Given the description of an element on the screen output the (x, y) to click on. 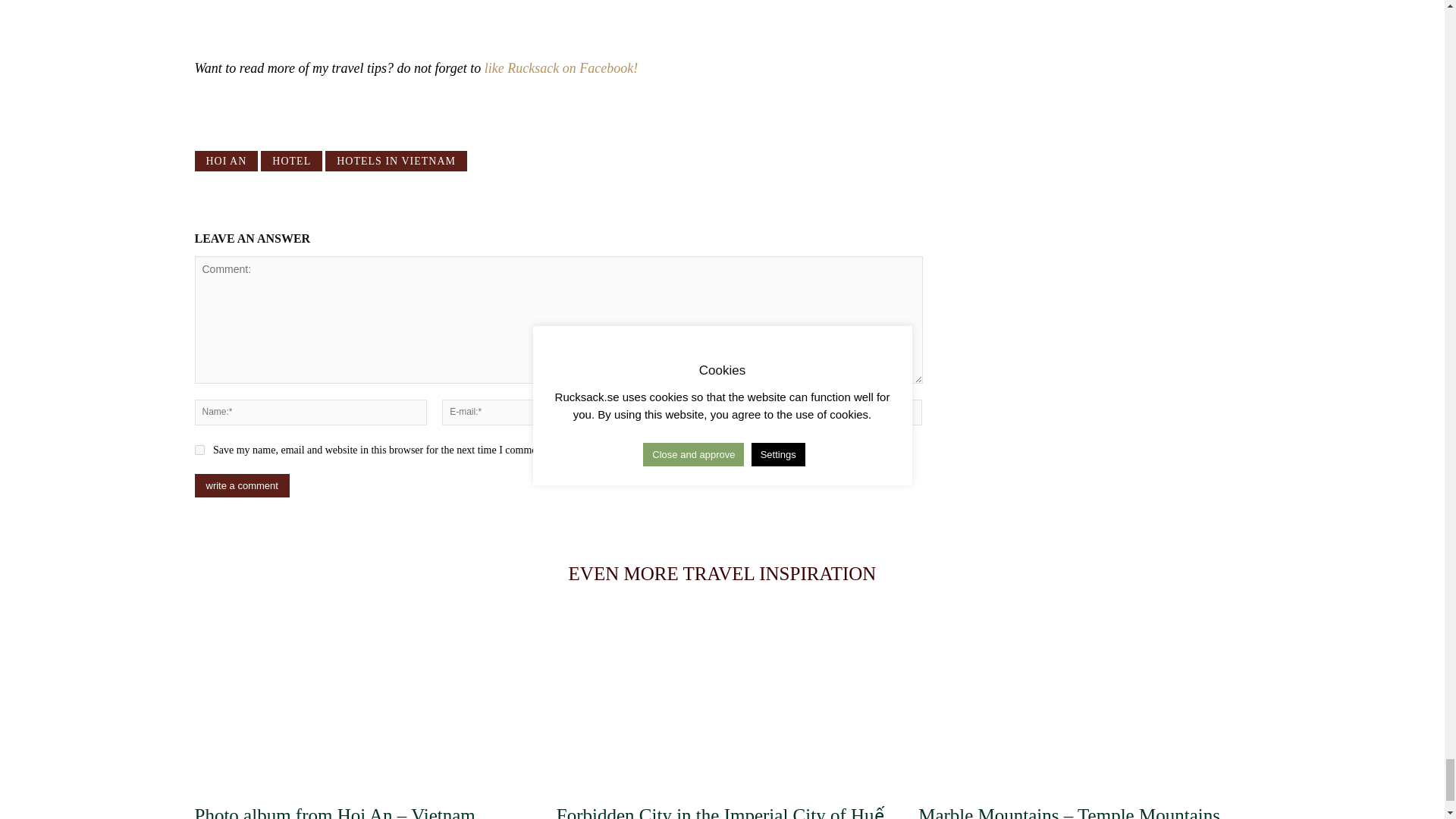
write a comment (240, 485)
yes (198, 450)
